Given the description of an element on the screen output the (x, y) to click on. 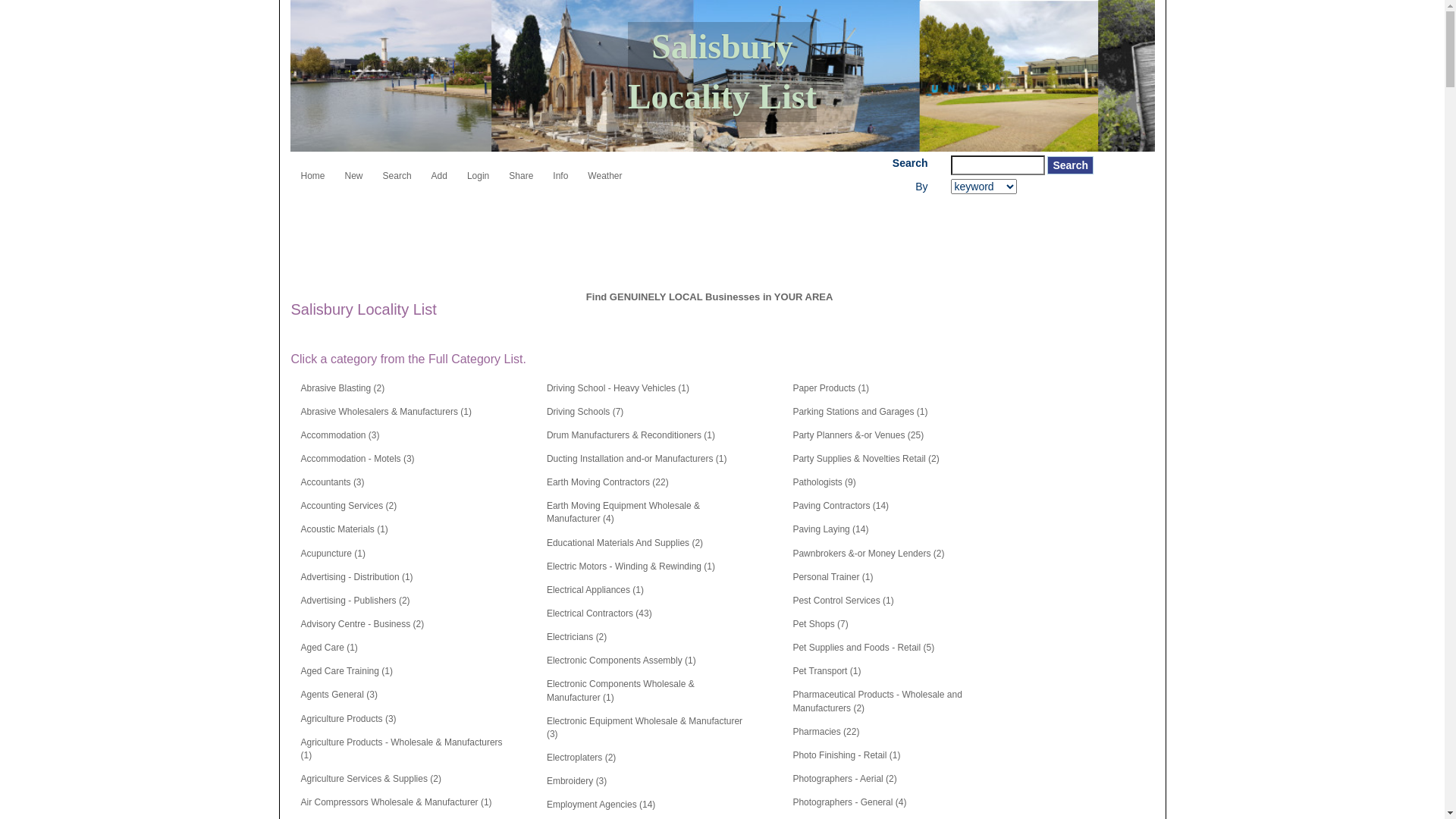
Photographers - General (4) Element type: text (849, 802)
Electric Motors - Winding & Rewinding (1) Element type: text (630, 566)
Party Planners &-or Venues (25) Element type: text (857, 435)
Paving Laying (14) Element type: text (830, 529)
Electricians (2) Element type: text (576, 637)
Add Element type: text (439, 169)
Pathologists (9) Element type: text (823, 482)
Pest Control Services (1) Element type: text (842, 600)
Earth Moving Contractors (22) Element type: text (607, 482)
Party Supplies & Novelties Retail (2) Element type: text (865, 458)
Search Element type: text (1070, 165)
Paving Contractors (14) Element type: text (840, 505)
Earth Moving Equipment Wholesale & Manufacturer (4) Element type: text (647, 512)
Ducting Installation and-or Manufacturers (1) Element type: text (636, 458)
Advisory Centre - Business (2) Element type: text (362, 624)
Paper Products (1) Element type: text (830, 388)
Accommodation - Motels (3) Element type: text (357, 458)
Agriculture Products (3) Element type: text (348, 719)
Photo Finishing - Retail (1) Element type: text (846, 755)
Search Element type: text (397, 169)
Embroidery (3) Element type: text (576, 781)
Air Compressors Wholesale & Manufacturer (1) Element type: text (396, 802)
Electrical Appliances (1) Element type: text (594, 590)
Pharmacies (22) Element type: text (825, 731)
Info Element type: text (559, 169)
Abrasive Wholesalers & Manufacturers (1) Element type: text (386, 411)
Accommodation (3) Element type: text (340, 435)
Advertising - Publishers (2) Element type: text (355, 600)
New Element type: text (354, 169)
Agriculture Services & Supplies (2) Element type: text (371, 778)
Electroplaters (2) Element type: text (580, 757)
Agriculture Products - Wholesale & Manufacturers (1) Element type: text (402, 749)
Aged Care (1) Element type: text (329, 647)
Educational Materials And Supplies (2) Element type: text (624, 543)
Acupuncture (1) Element type: text (333, 553)
Drum Manufacturers & Reconditioners (1) Element type: text (630, 435)
Driving Schools (7) Element type: text (584, 411)
Electronic Components Wholesale & Manufacturer (1) Element type: text (647, 690)
Share Element type: text (520, 169)
Aged Care Training (1) Element type: text (346, 671)
Electrical Contractors (43) Element type: text (599, 613)
Pet Shops (7) Element type: text (819, 624)
Home Element type: text (313, 169)
Photographers - Aerial (2) Element type: text (844, 778)
Accountants (3) Element type: text (332, 482)
Parking Stations and Garages (1) Element type: text (859, 411)
Pawnbrokers &-or Money Lenders (2) Element type: text (867, 553)
Electronic Equipment Wholesale & Manufacturer (3) Element type: text (647, 727)
Pharmaceutical Products - Wholesale and Manufacturers (2) Element type: text (893, 701)
Driving School - Heavy Vehicles (1) Element type: text (617, 388)
Pet Supplies and Foods - Retail (5) Element type: text (863, 647)
Personal Trainer (1) Element type: text (832, 577)
Electronic Components Assembly (1) Element type: text (621, 660)
Agents General (3) Element type: text (339, 694)
Employment Agencies (14) Element type: text (600, 804)
Login Element type: text (477, 169)
Advertising - Distribution (1) Element type: text (357, 577)
Acoustic Materials (1) Element type: text (344, 529)
Advertisement Element type: hover (567, 235)
Pet Transport (1) Element type: text (826, 671)
Abrasive Blasting (2) Element type: text (343, 388)
Weather Element type: text (604, 169)
Accounting Services (2) Element type: text (349, 505)
